Given the description of an element on the screen output the (x, y) to click on. 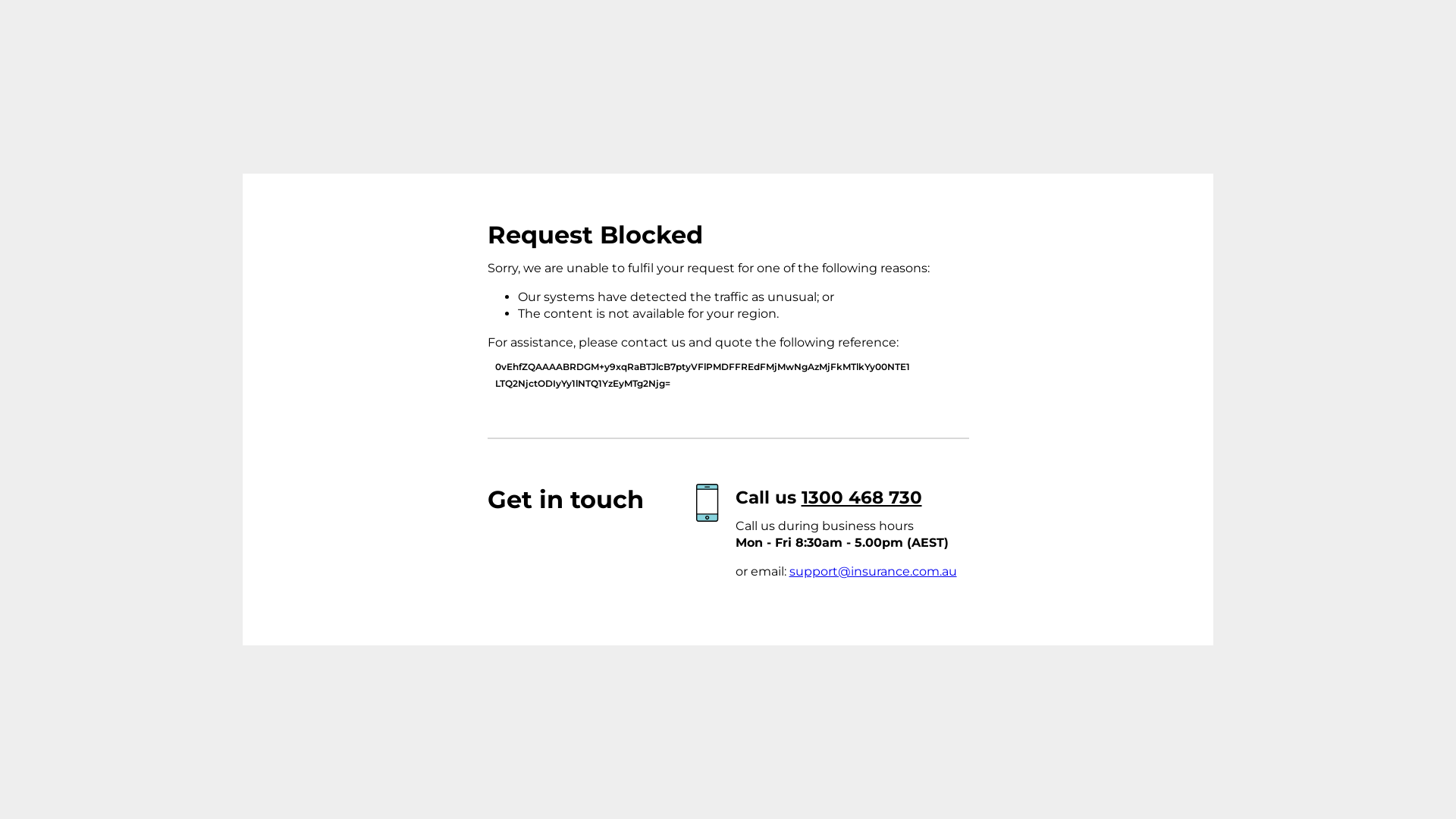
Insurance.com.au Element type: text (377, 264)
1300 468 730 Element type: text (860, 497)
support@insurance.com.au Element type: text (872, 571)
